Given the description of an element on the screen output the (x, y) to click on. 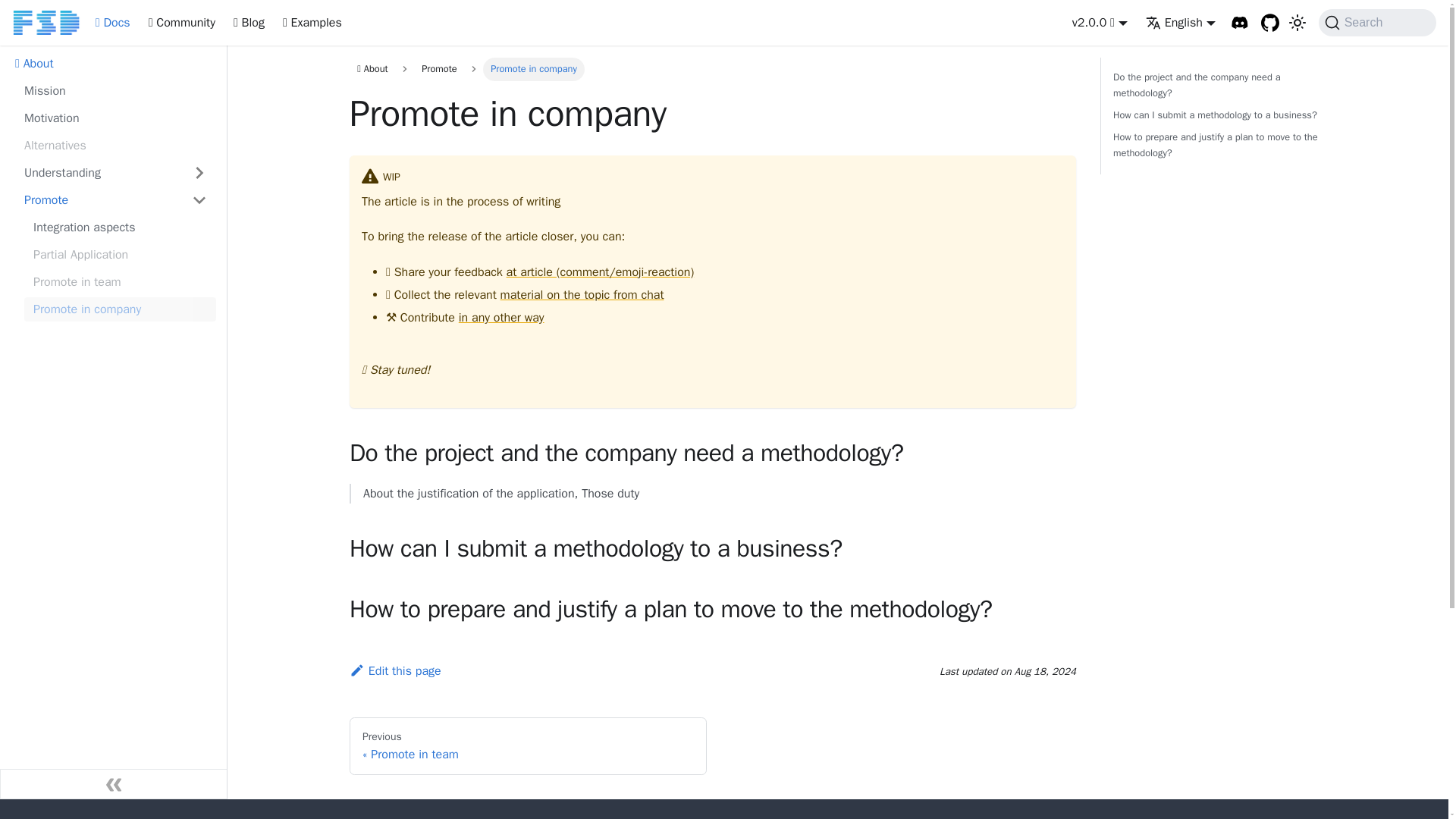
Motivation (114, 118)
Mission (114, 90)
Alternatives (114, 145)
in any other way (501, 317)
English (1180, 22)
Integration aspects (119, 227)
Promote in company (119, 309)
Understanding (114, 172)
Promote (114, 200)
Promote in team (119, 282)
